Given the description of an element on the screen output the (x, y) to click on. 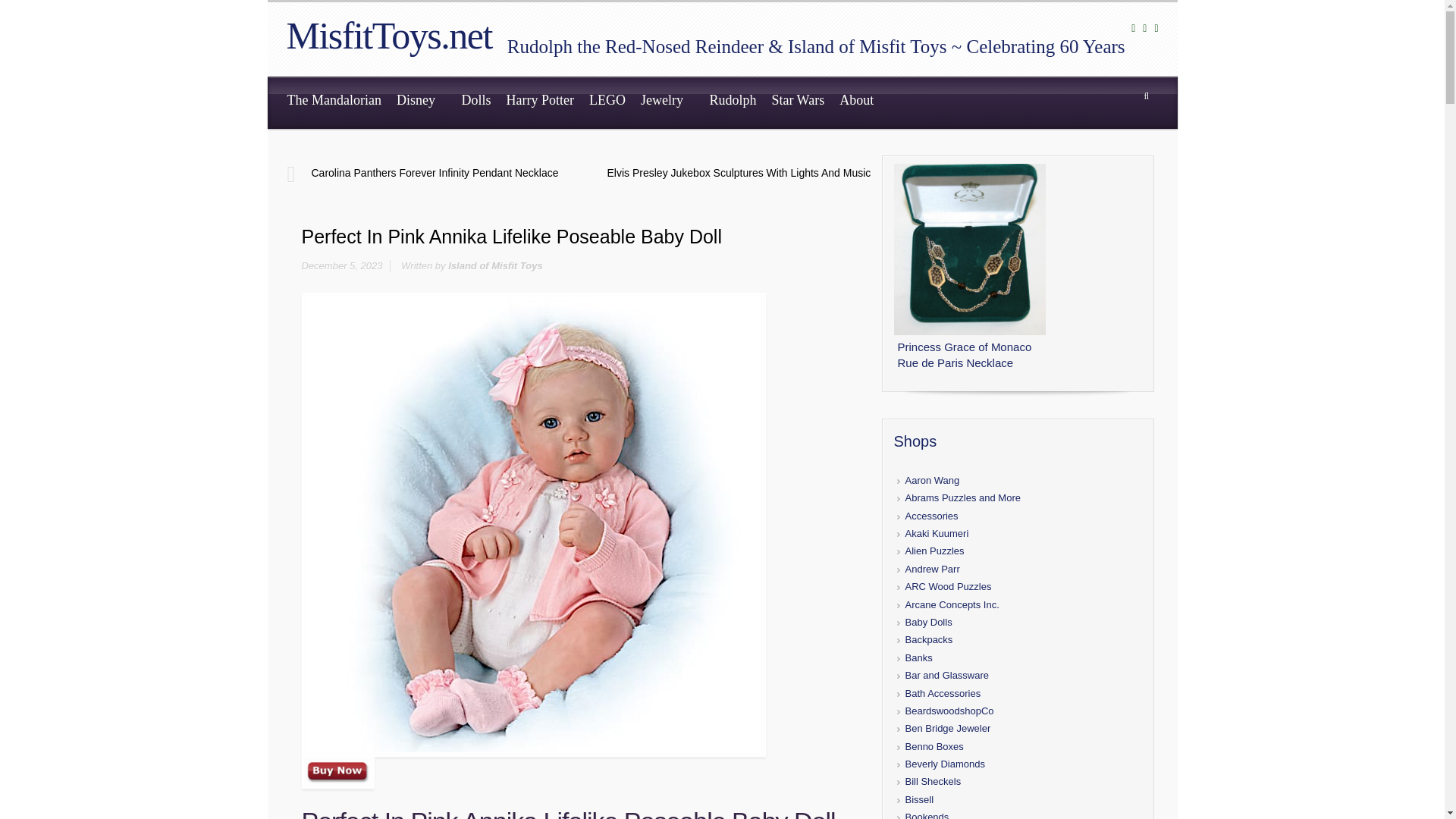
Jewelry (667, 101)
About (861, 101)
Rudolph (731, 101)
Rudolph (731, 101)
Harry Potter (538, 101)
Disney (421, 101)
Star Wars (796, 101)
Jewelry (667, 101)
Harry Potter (538, 101)
LEGO (606, 101)
The Mandalorian (333, 101)
The Mandalorian (333, 101)
Star Wars (796, 101)
MisfitToys.net (389, 35)
Disney (421, 101)
